Given the description of an element on the screen output the (x, y) to click on. 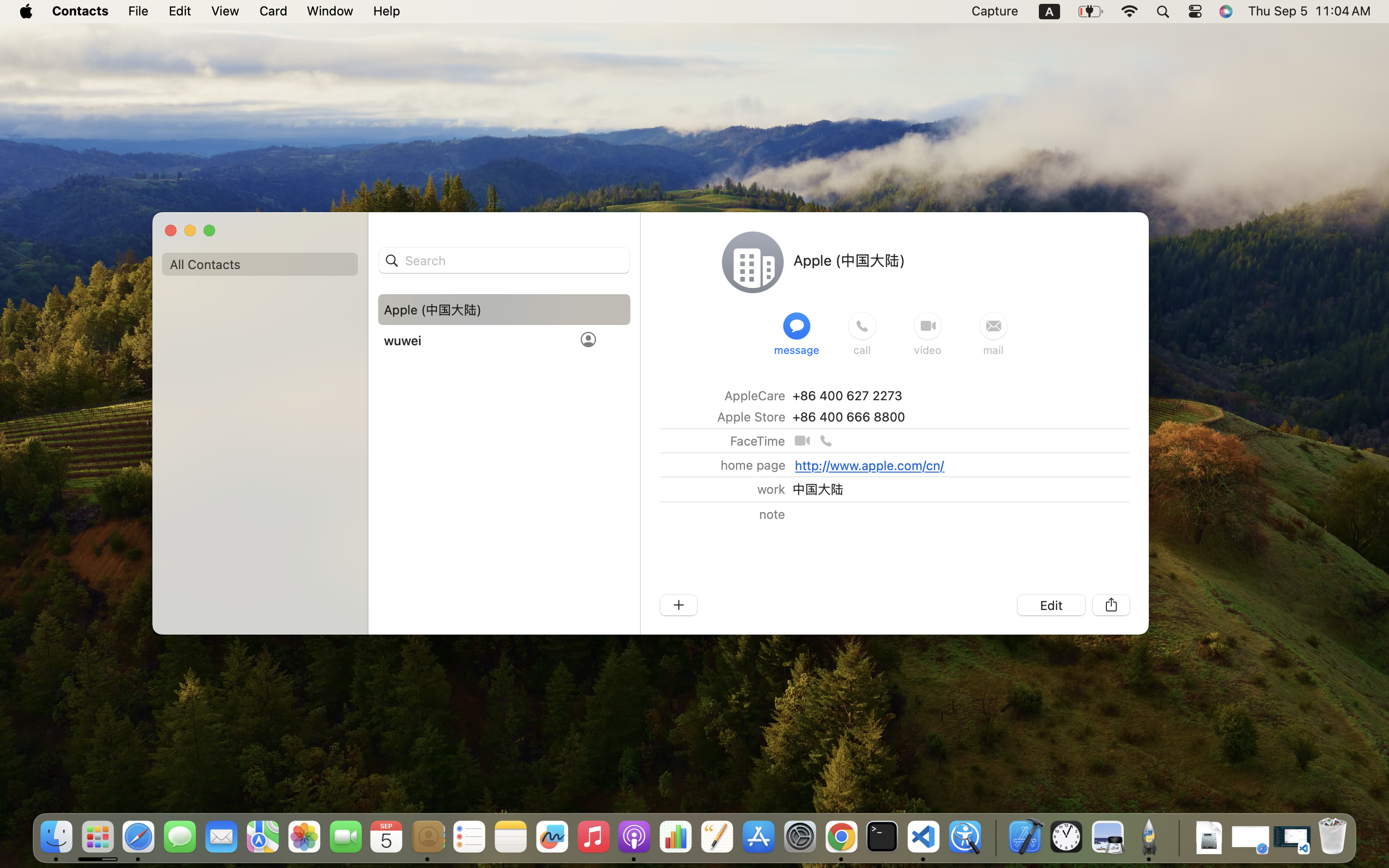
home page Element type: AXStaticText (752, 464)
work Element type: AXStaticText (771, 488)
FaceTime Element type: AXStaticText (757, 440)
wuwei Element type: AXStaticText (402, 340)
